Given the description of an element on the screen output the (x, y) to click on. 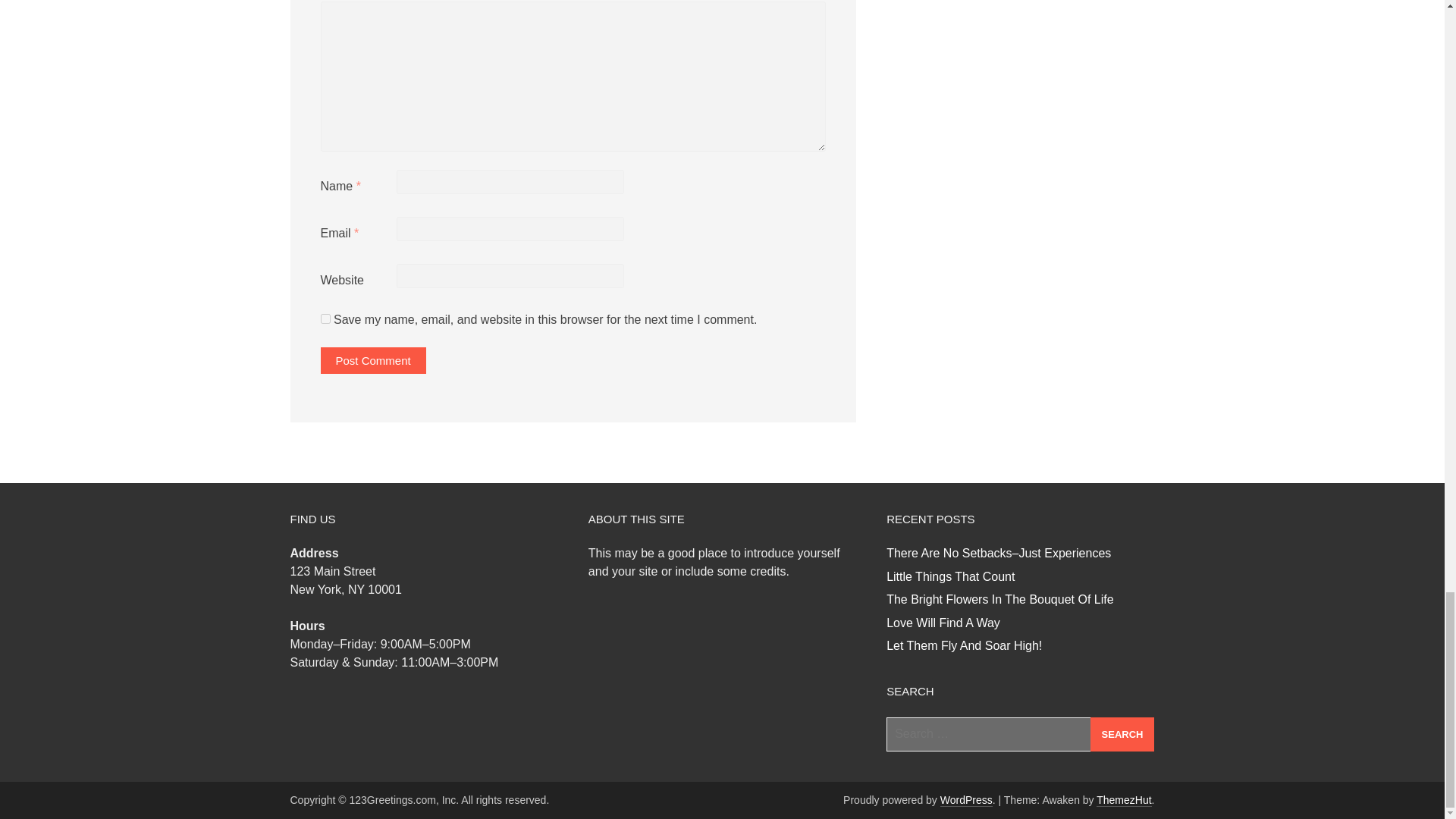
Search (1122, 734)
Search (1122, 734)
Post Comment (372, 360)
WordPress (966, 799)
yes (325, 318)
